Given the description of an element on the screen output the (x, y) to click on. 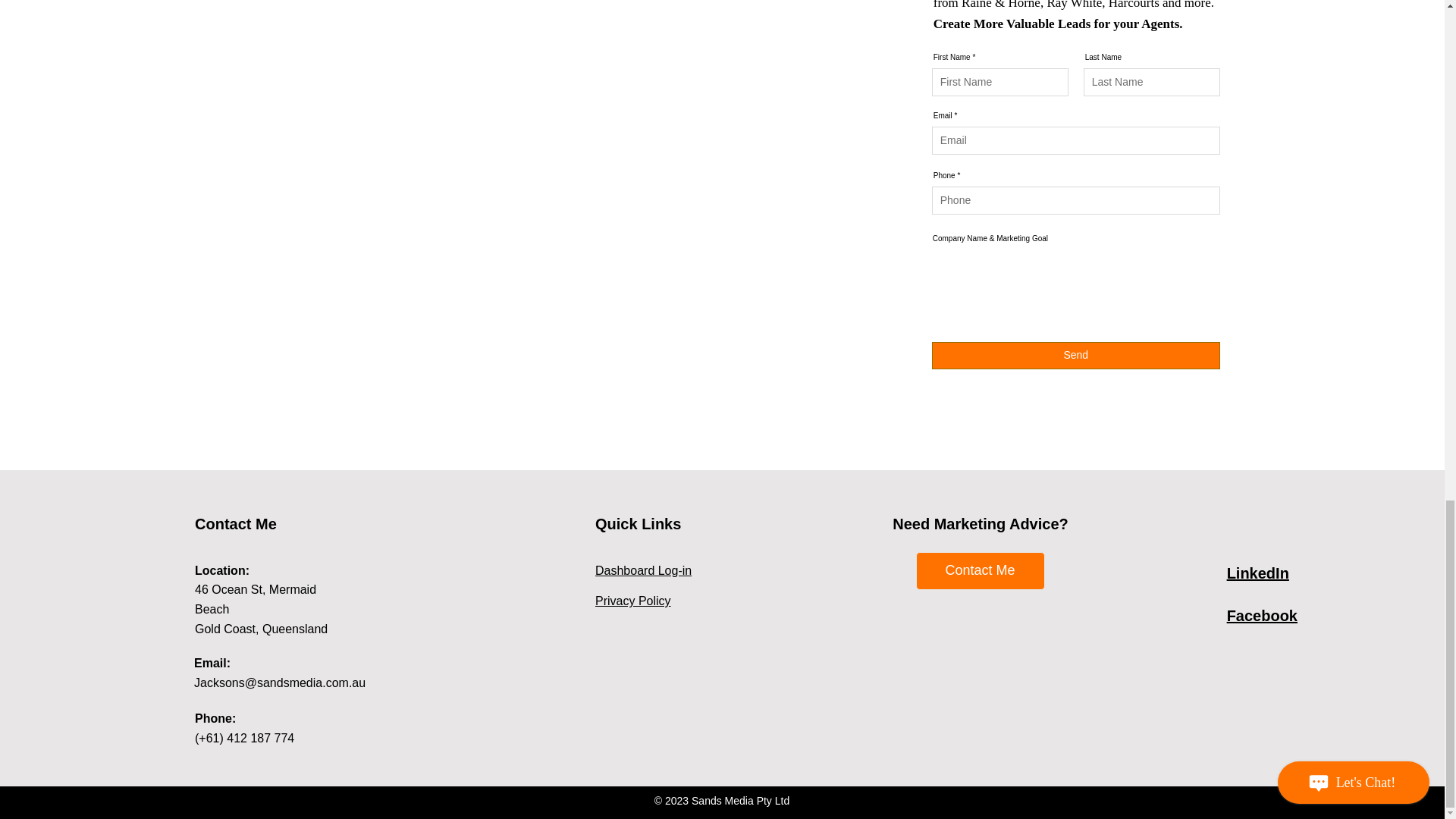
LinkedIn (1257, 573)
Dashboard Log-in (643, 570)
Send (1075, 355)
Facebook (1262, 615)
Privacy Policy (633, 600)
Contact Me (980, 570)
